Given the description of an element on the screen output the (x, y) to click on. 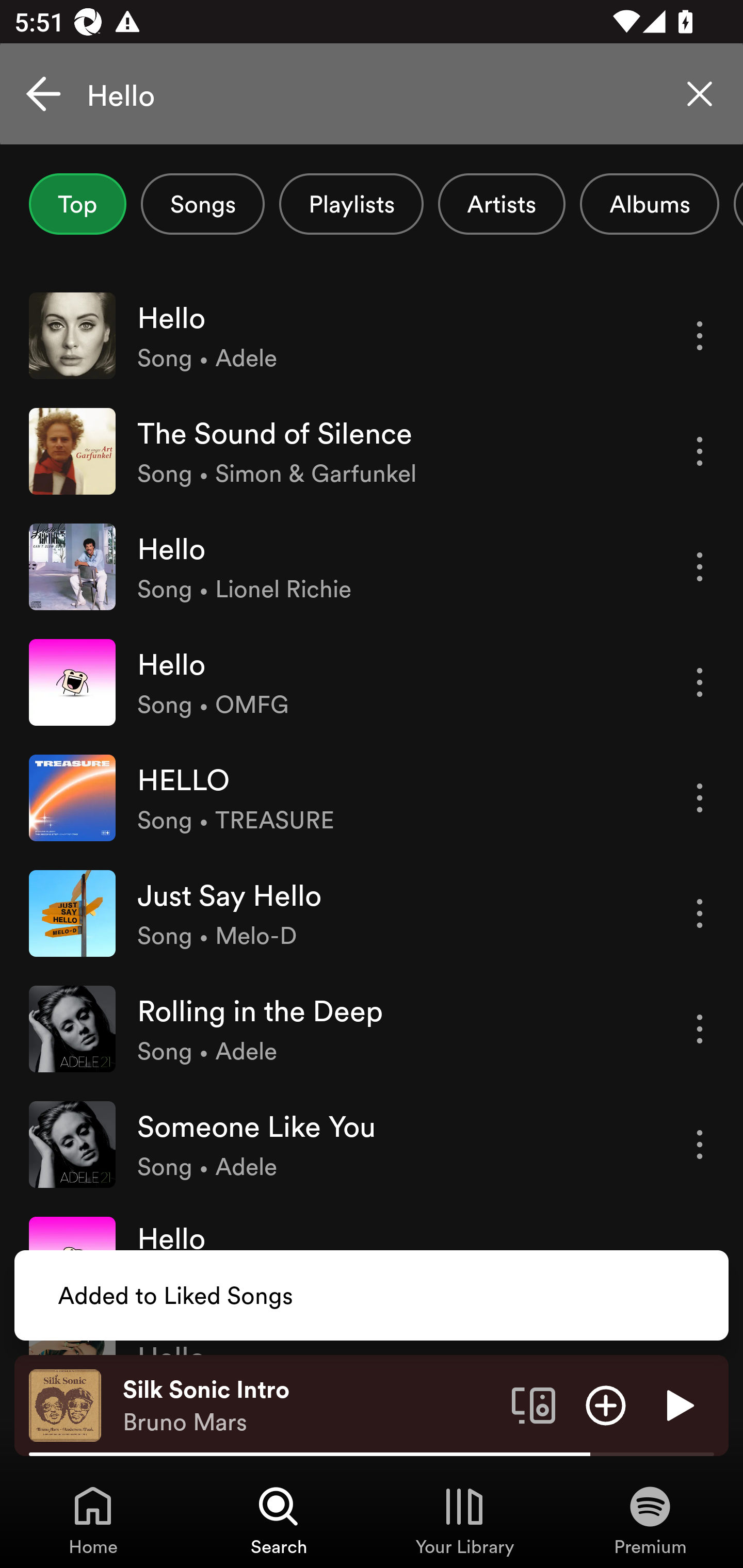
Hello (371, 93)
Cancel (43, 93)
Clear search query (699, 93)
Top (77, 203)
Songs (202, 203)
Playlists (351, 203)
Artists (501, 203)
Albums (649, 203)
Hello Song • Adele More options for song Hello (371, 335)
More options for song Hello (699, 336)
More options for song The Sound of Silence (699, 450)
More options for song Hello (699, 566)
Hello Song • OMFG More options for song Hello (371, 682)
More options for song Hello (699, 682)
HELLO Song • TREASURE More options for song HELLO (371, 798)
More options for song HELLO (699, 798)
More options for song Just Say Hello (699, 913)
More options for song Rolling in the Deep (699, 1029)
More options for song Someone Like You (699, 1144)
Silk Sonic Intro Bruno Mars (309, 1405)
The cover art of the currently playing track (64, 1404)
Connect to a device. Opens the devices menu (533, 1404)
Add item (605, 1404)
Play (677, 1404)
Home, Tab 1 of 4 Home Home (92, 1519)
Search, Tab 2 of 4 Search Search (278, 1519)
Your Library, Tab 3 of 4 Your Library Your Library (464, 1519)
Premium, Tab 4 of 4 Premium Premium (650, 1519)
